Given the description of an element on the screen output the (x, y) to click on. 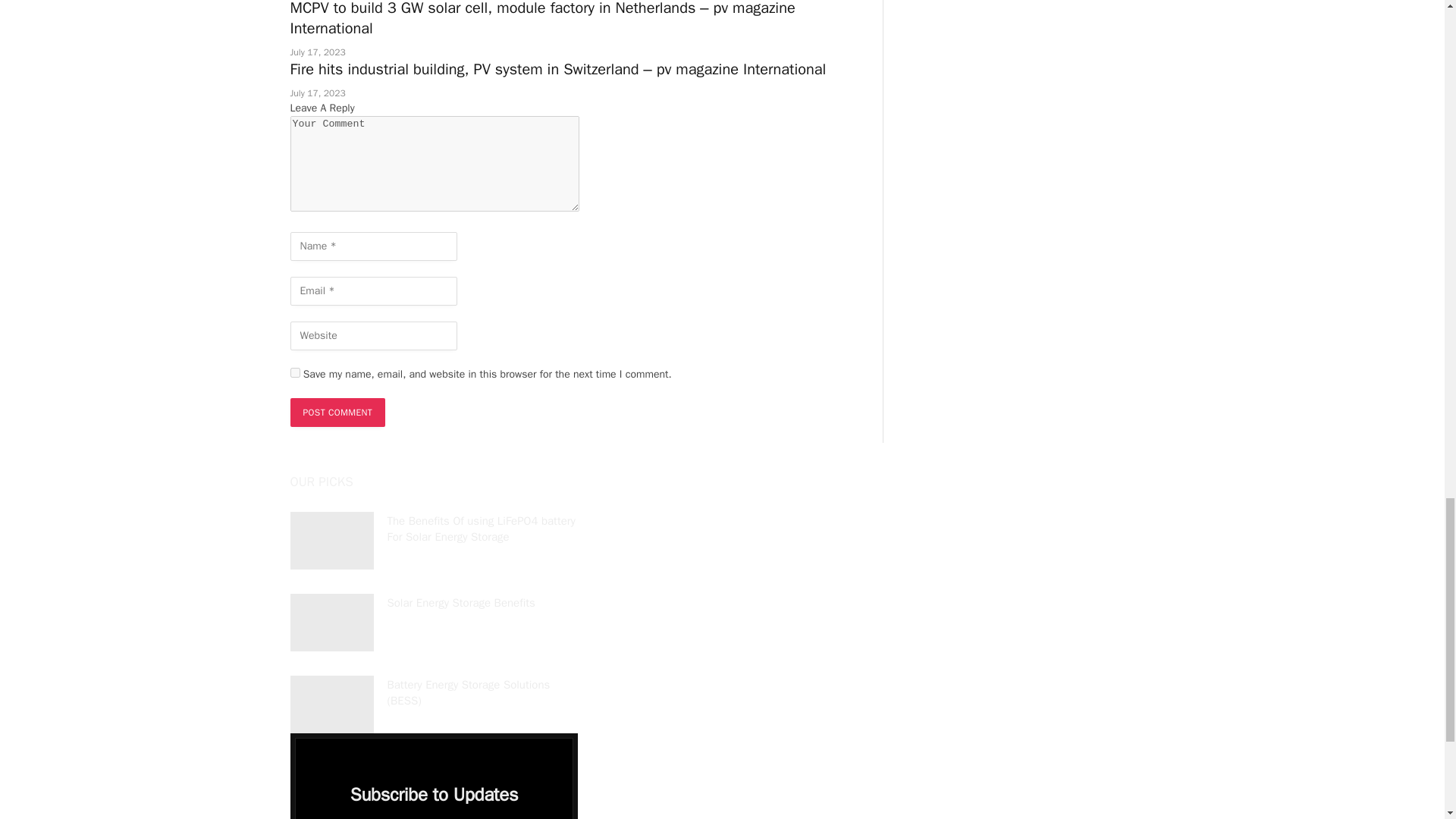
Post Comment (337, 412)
yes (294, 372)
